Given the description of an element on the screen output the (x, y) to click on. 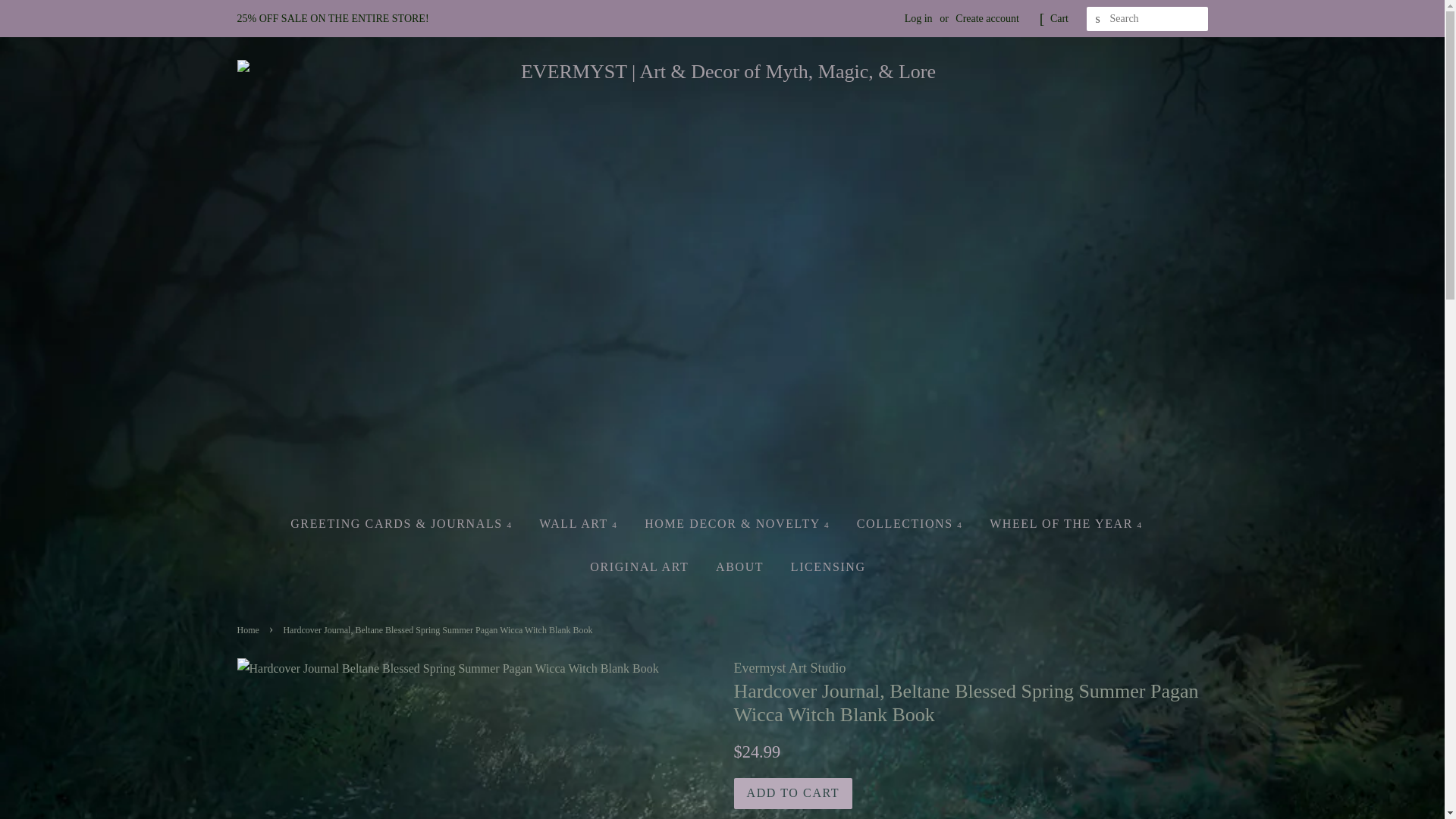
Back to the frontpage (248, 629)
Create account (987, 18)
SEARCH (1097, 18)
Log in (918, 18)
Cart (1058, 18)
